Given the description of an element on the screen output the (x, y) to click on. 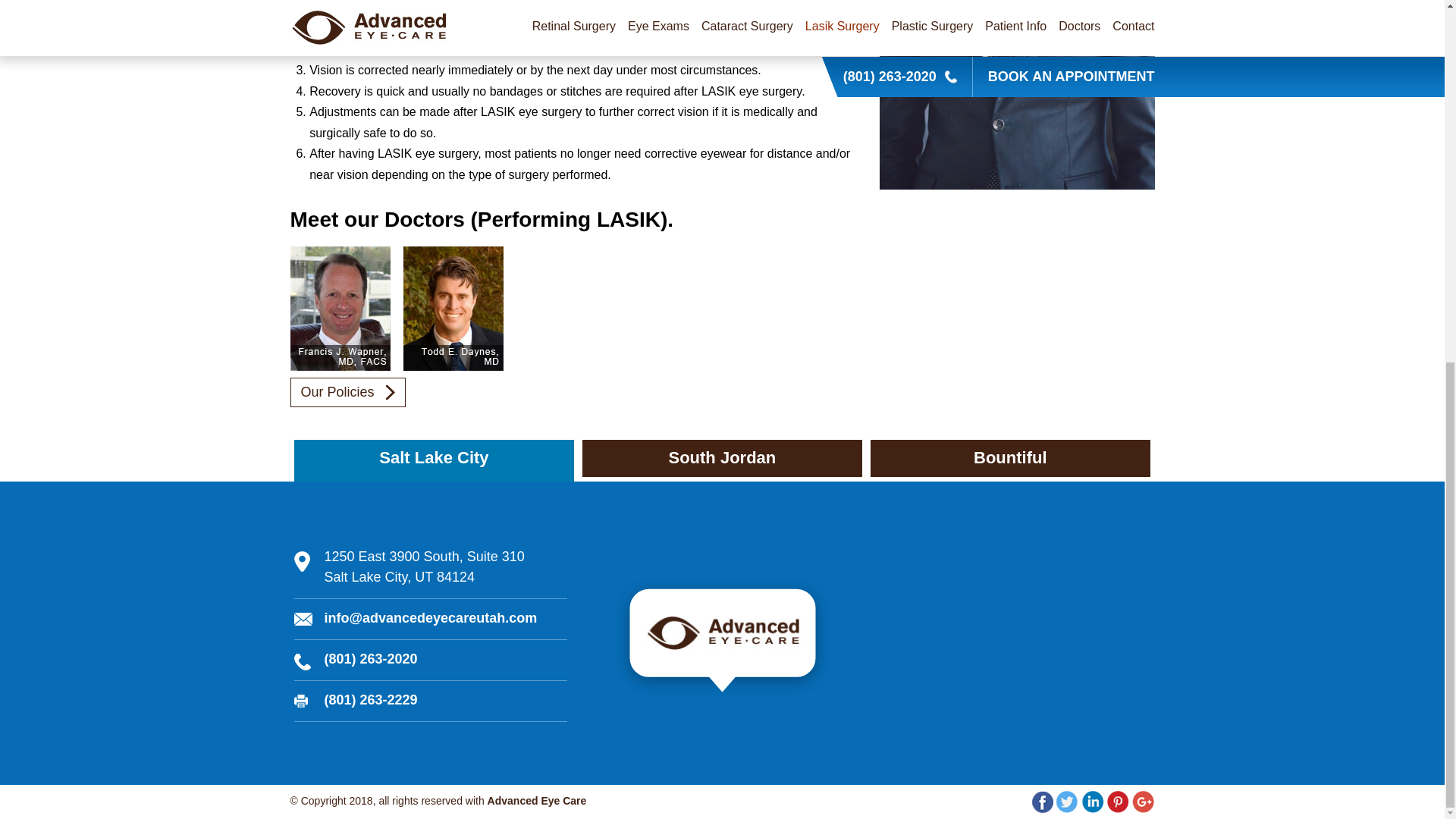
Our Policies (346, 392)
Google Plus (1143, 802)
Twitter (1067, 802)
Pinterest (1117, 802)
Facebook (1041, 802)
Linked In (430, 572)
